Given the description of an element on the screen output the (x, y) to click on. 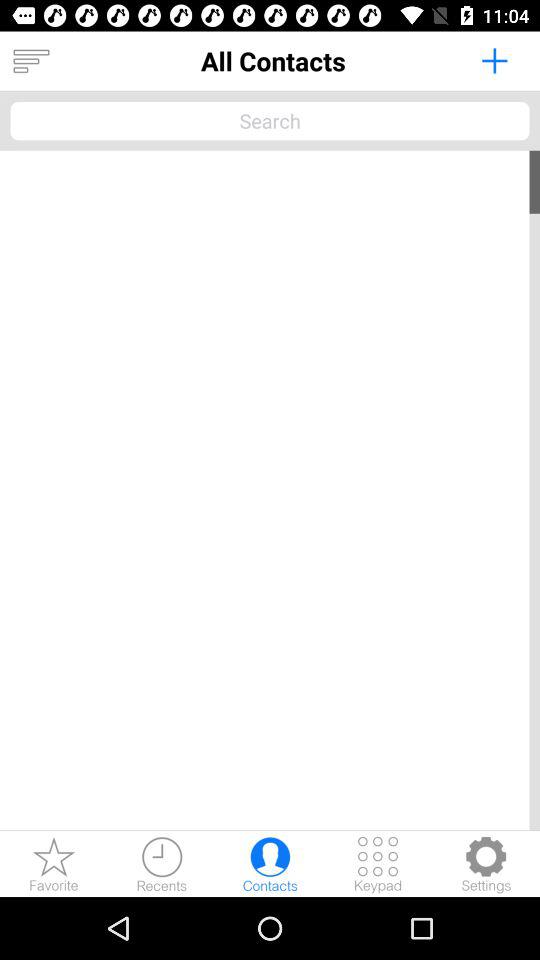
settings (485, 864)
